Given the description of an element on the screen output the (x, y) to click on. 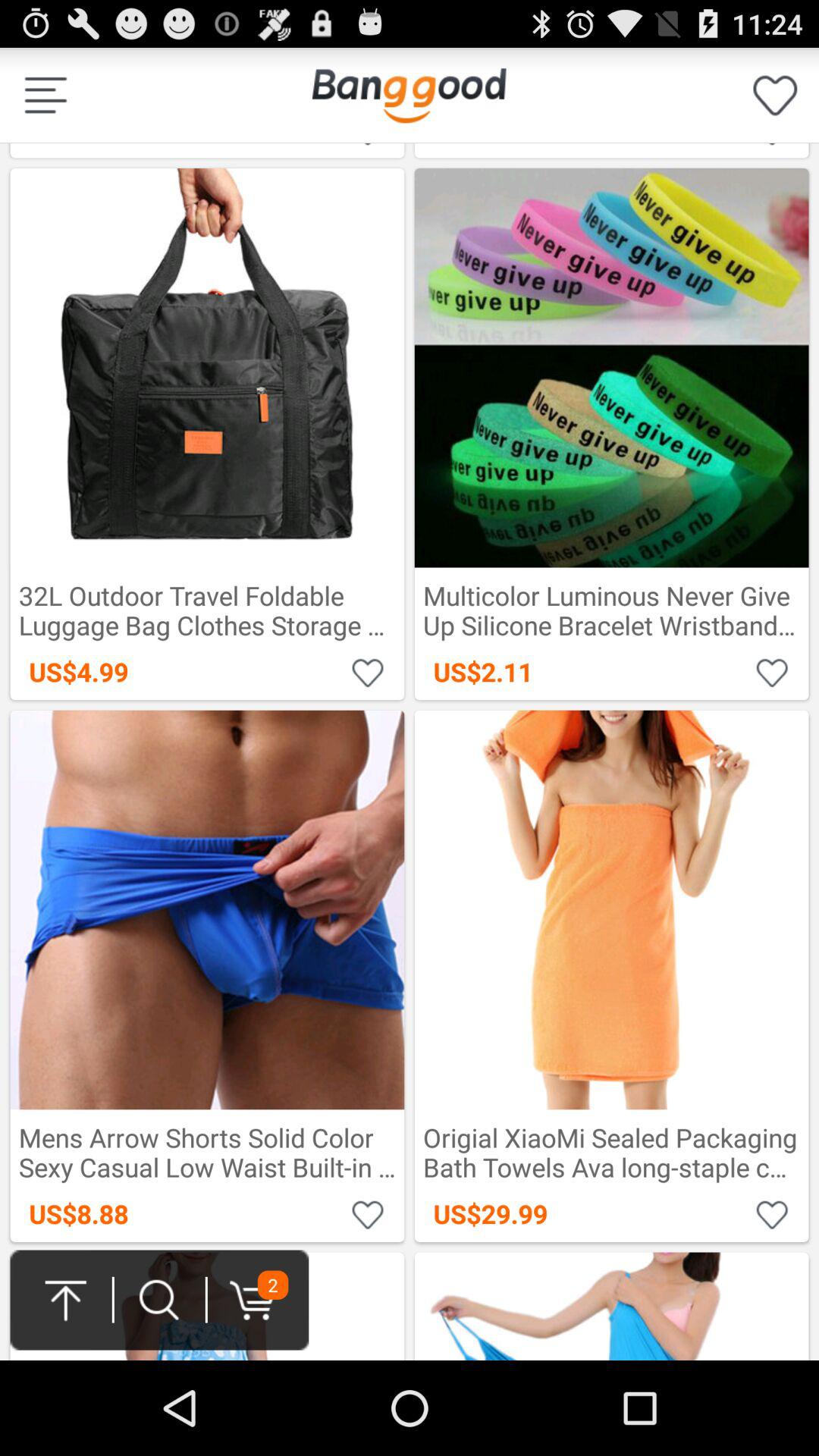
wish list (772, 671)
